Given the description of an element on the screen output the (x, y) to click on. 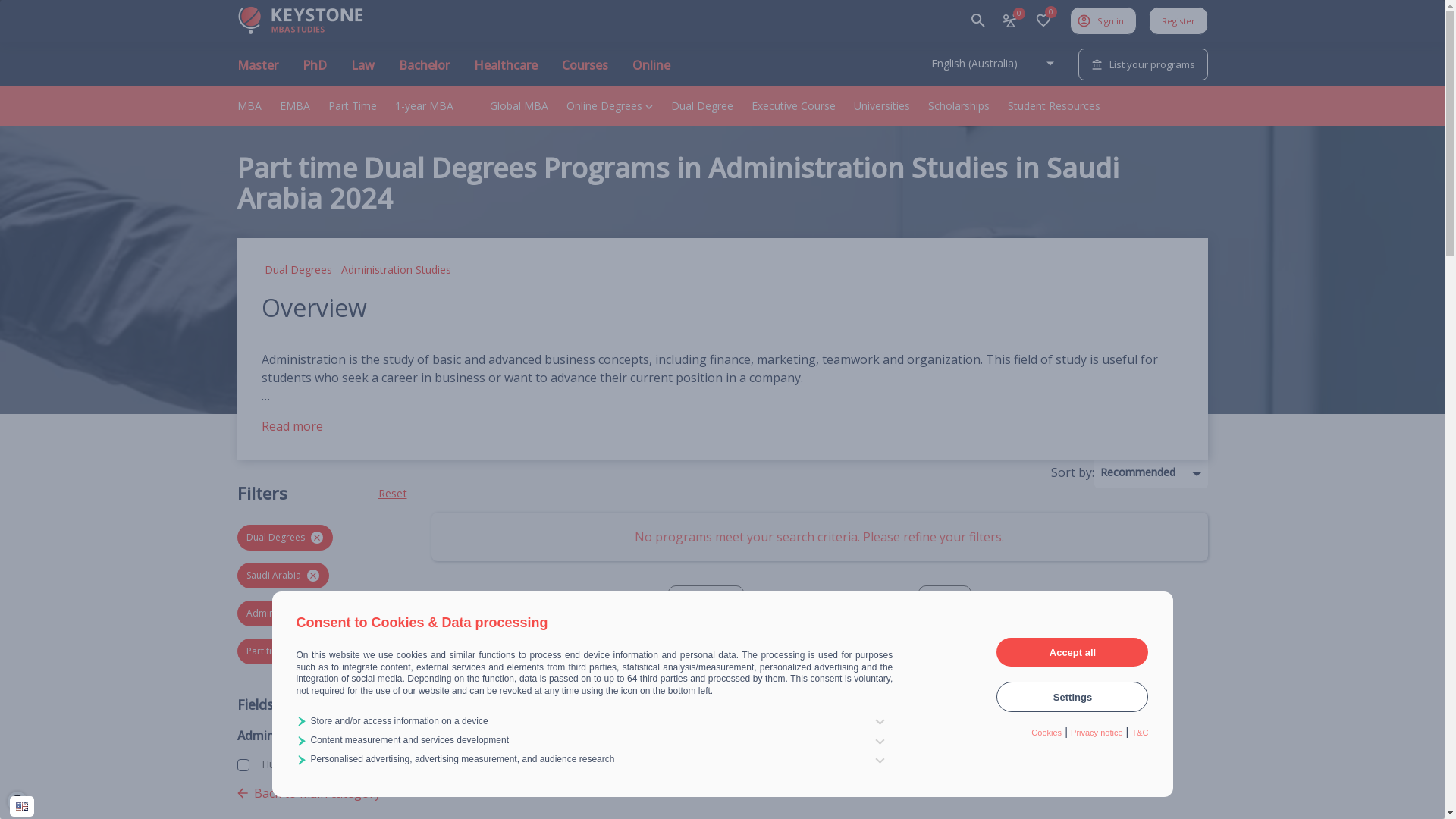
Register Element type: text (1177, 20)
0 Element type: text (1009, 20)
1-year MBA Element type: text (423, 105)
List your programs Element type: text (1143, 64)
Sign in Element type: text (1102, 20)
Executive Course Element type: text (792, 105)
Online Element type: text (651, 71)
MBA Element type: text (248, 105)
Courses Element type: text (584, 71)
Law Element type: text (361, 71)
EMBA Element type: text (294, 105)
Reset Element type: text (391, 493)
Bachelor Element type: text (423, 71)
Healthcare Element type: text (504, 71)
0 Element type: text (1042, 20)
Universities Element type: text (881, 105)
Scholarships Element type: text (958, 105)
Dual Degrees Element type: text (297, 269)
Dual Degree Element type: text (701, 105)
Next Element type: text (943, 605)
Read more Element type: text (291, 426)
Student Resources Element type: text (1053, 105)
PhD Element type: text (313, 71)
Part Time Element type: text (351, 105)
Administration Studies Element type: text (396, 269)
Master Element type: text (256, 71)
Previous Element type: text (705, 605)
Global MBA Element type: text (518, 105)
